Given the description of an element on the screen output the (x, y) to click on. 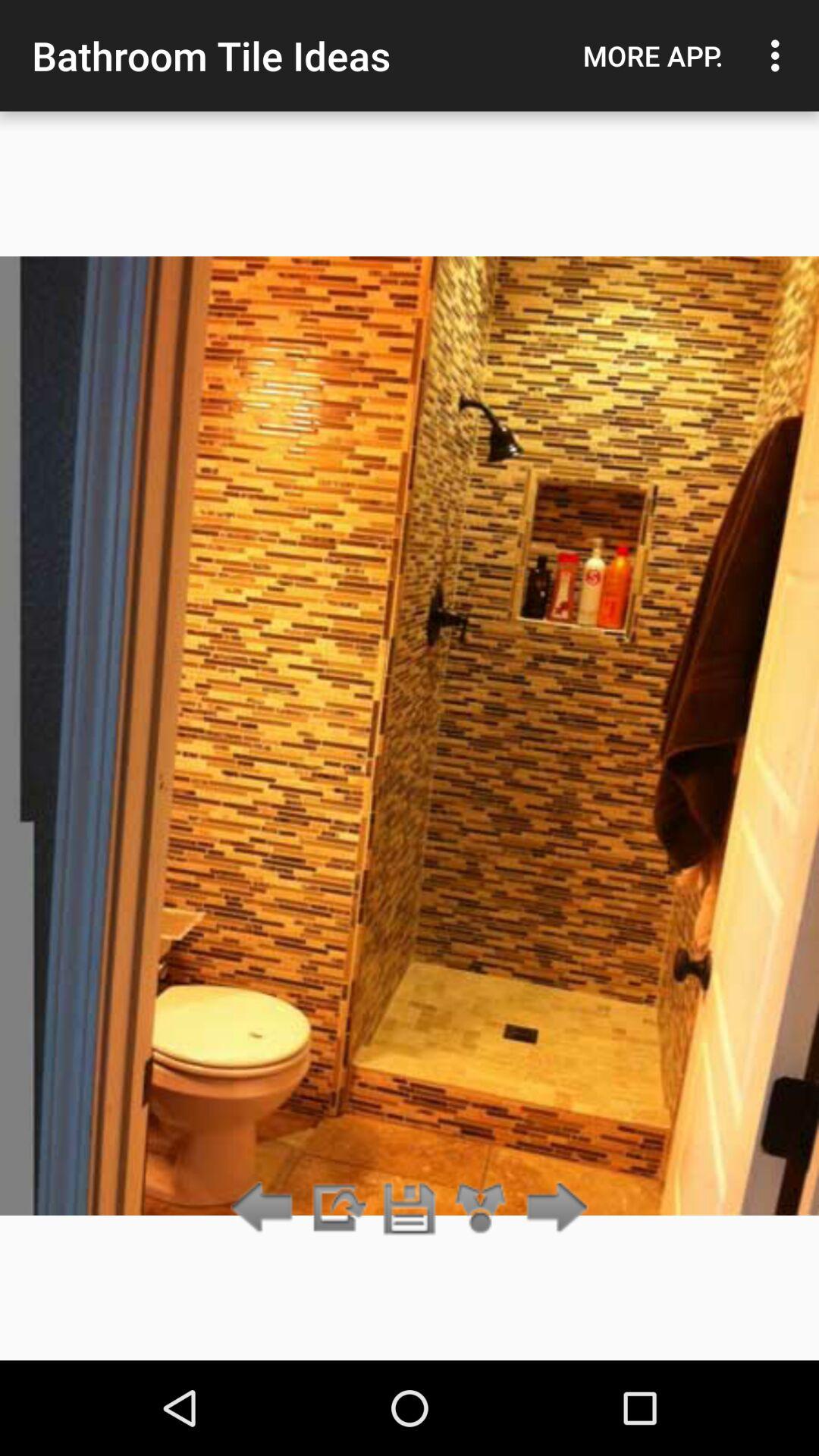
tap the icon to the right of more app. icon (779, 55)
